Given the description of an element on the screen output the (x, y) to click on. 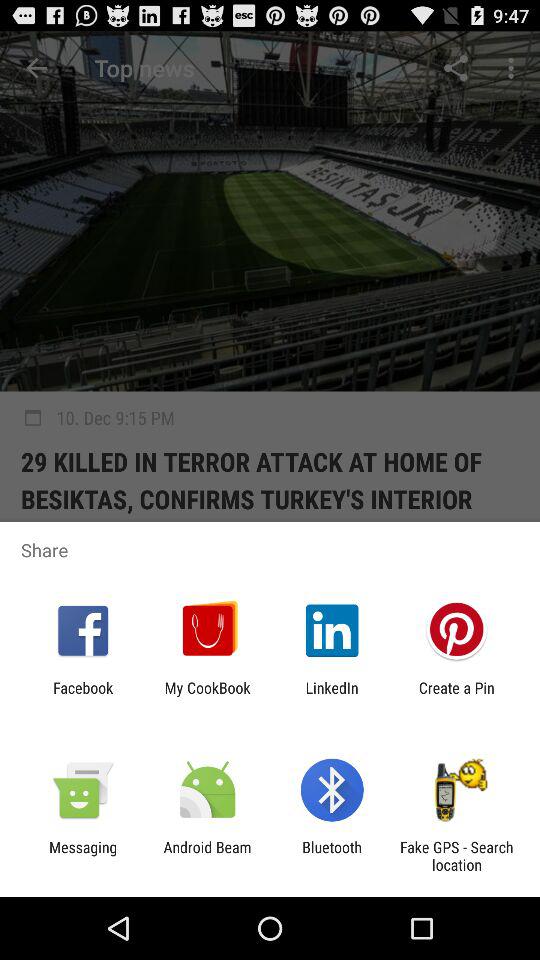
click the item next to my cookbook icon (83, 696)
